Given the description of an element on the screen output the (x, y) to click on. 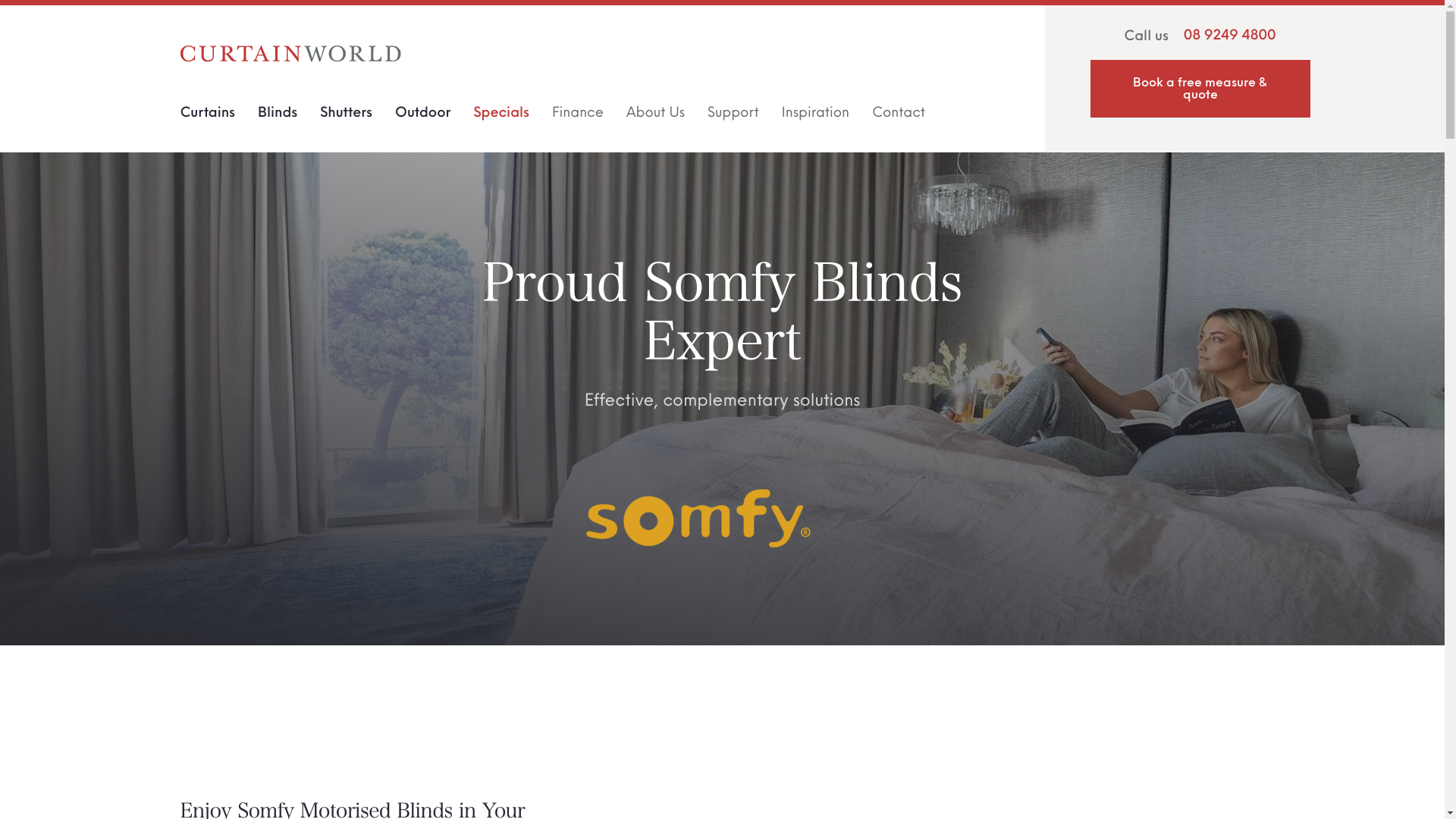
Skip to Content Element type: text (6, 6)
Outdoor Element type: text (422, 116)
Contact Element type: text (898, 116)
Curtains Element type: text (207, 116)
Curtain World Element type: text (290, 53)
Finance Element type: text (577, 116)
About Us Element type: text (655, 116)
Inspiration Element type: text (815, 116)
Blinds Element type: text (277, 116)
Specials Element type: text (500, 116)
Support Element type: text (733, 116)
Shutters Element type: text (345, 116)
Call us
08 9249 4800 Element type: text (1200, 35)
Book a free measure & quote Element type: text (1200, 88)
